Given the description of an element on the screen output the (x, y) to click on. 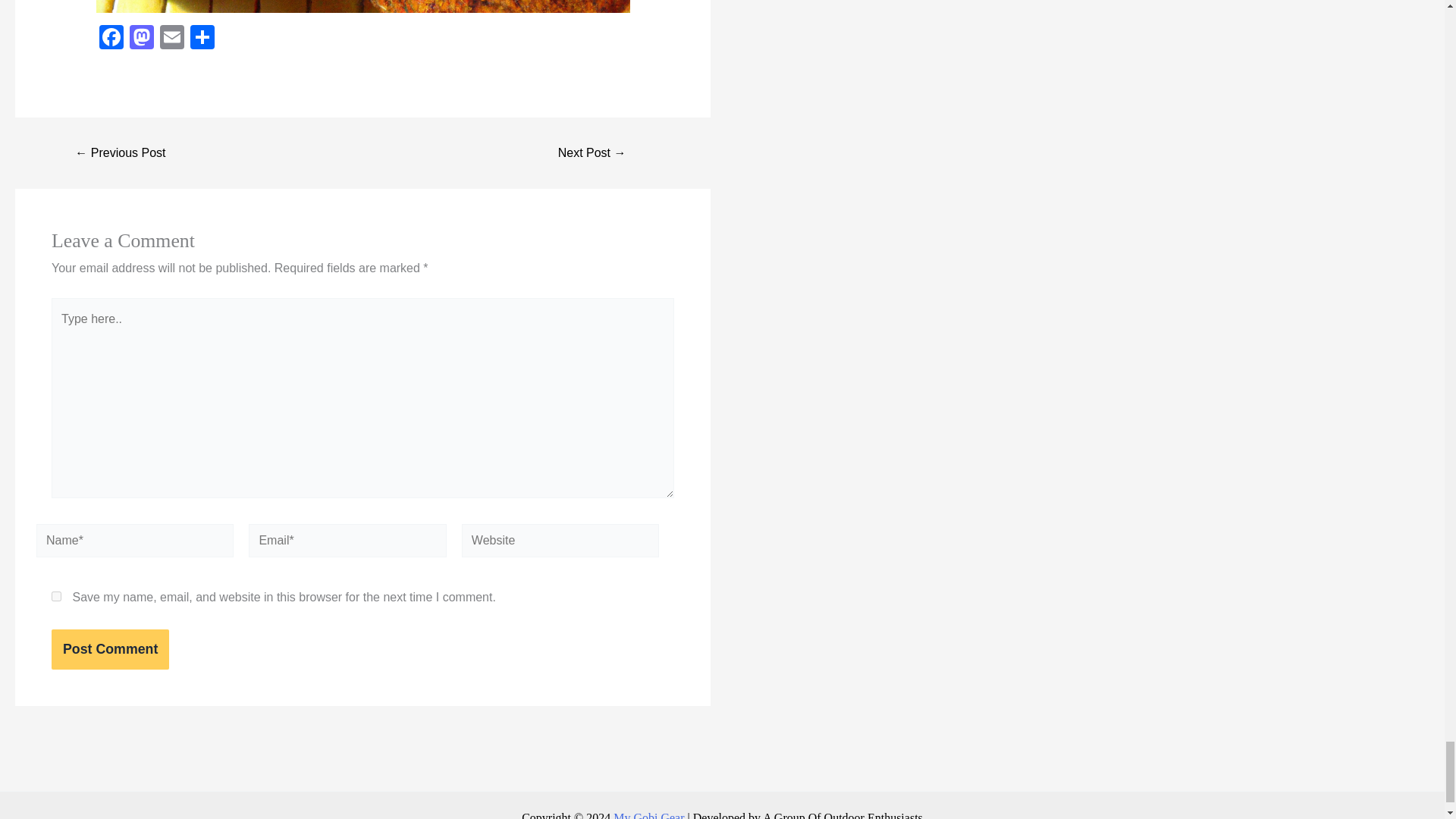
yes (55, 596)
Post Comment (109, 649)
